Given the description of an element on the screen output the (x, y) to click on. 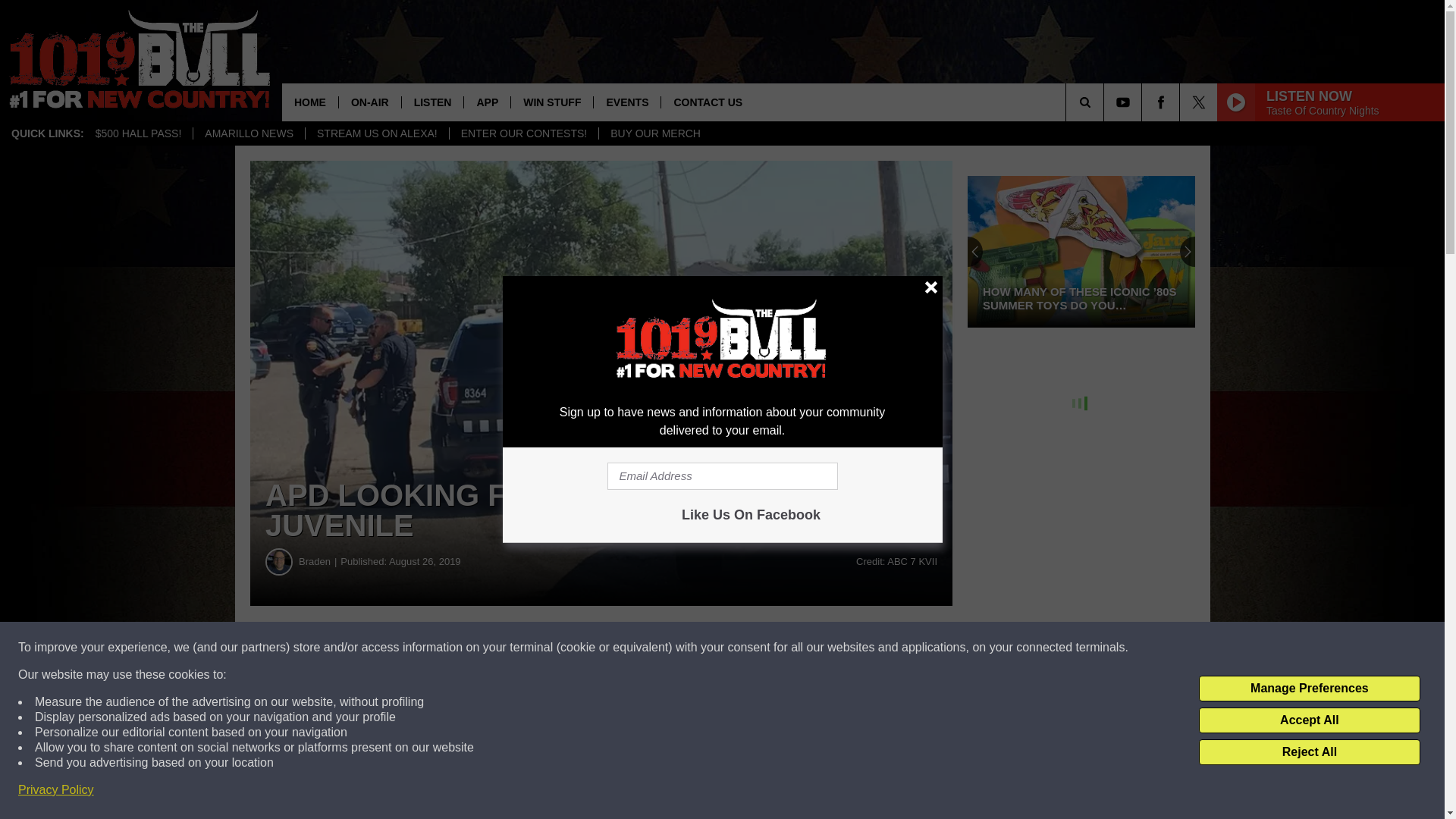
LISTEN (432, 102)
Share on Facebook (460, 647)
STREAM US ON ALEXA! (376, 133)
Manage Preferences (1309, 688)
SEARCH (1106, 102)
Reject All (1309, 751)
HOME (309, 102)
BUY OUR MERCH (654, 133)
AMARILLO NEWS (248, 133)
ENTER OUR CONTESTS! (523, 133)
SEARCH (1106, 102)
Accept All (1309, 720)
EVENTS (626, 102)
Email Address (722, 475)
APP (487, 102)
